Given the description of an element on the screen output the (x, y) to click on. 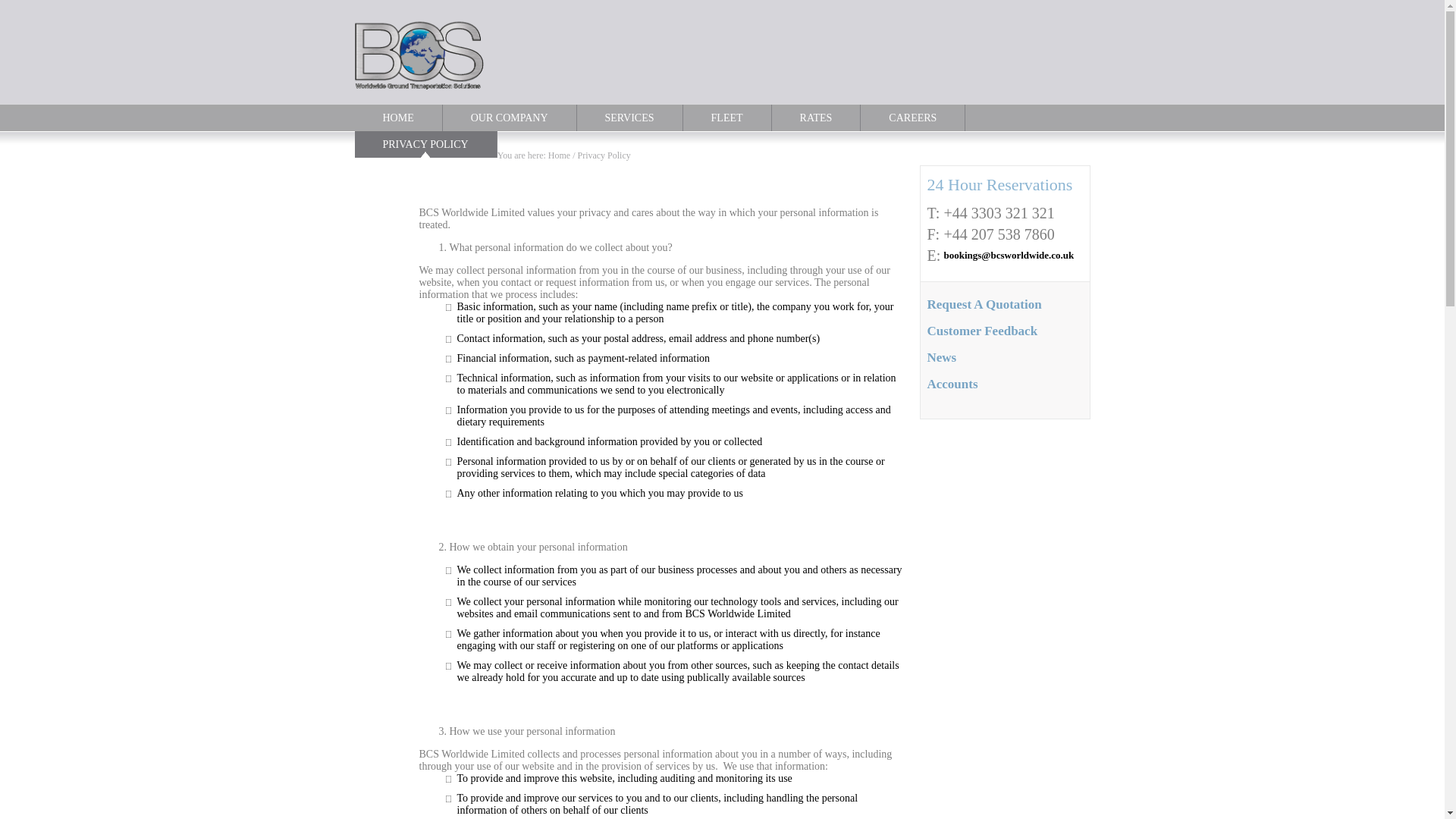
RATES (816, 117)
Customer Feedback (981, 330)
FLEET (726, 117)
Request A Quotation (983, 304)
HOME (398, 117)
SERVICES (629, 117)
OUR COMPANY (509, 117)
CAREERS (912, 117)
Accounts (951, 383)
PRIVACY POLICY (426, 144)
